Given the description of an element on the screen output the (x, y) to click on. 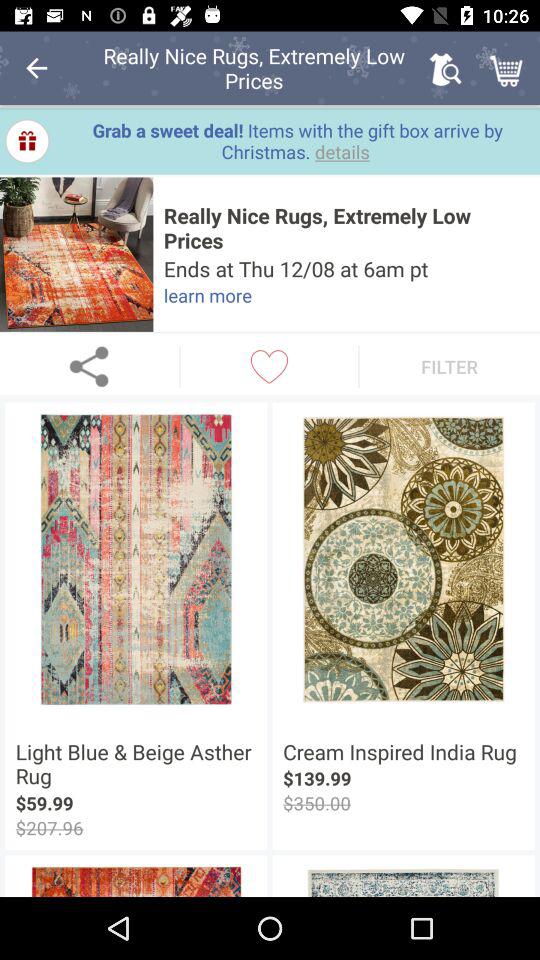
turn on item above grab a sweet (444, 67)
